Given the description of an element on the screen output the (x, y) to click on. 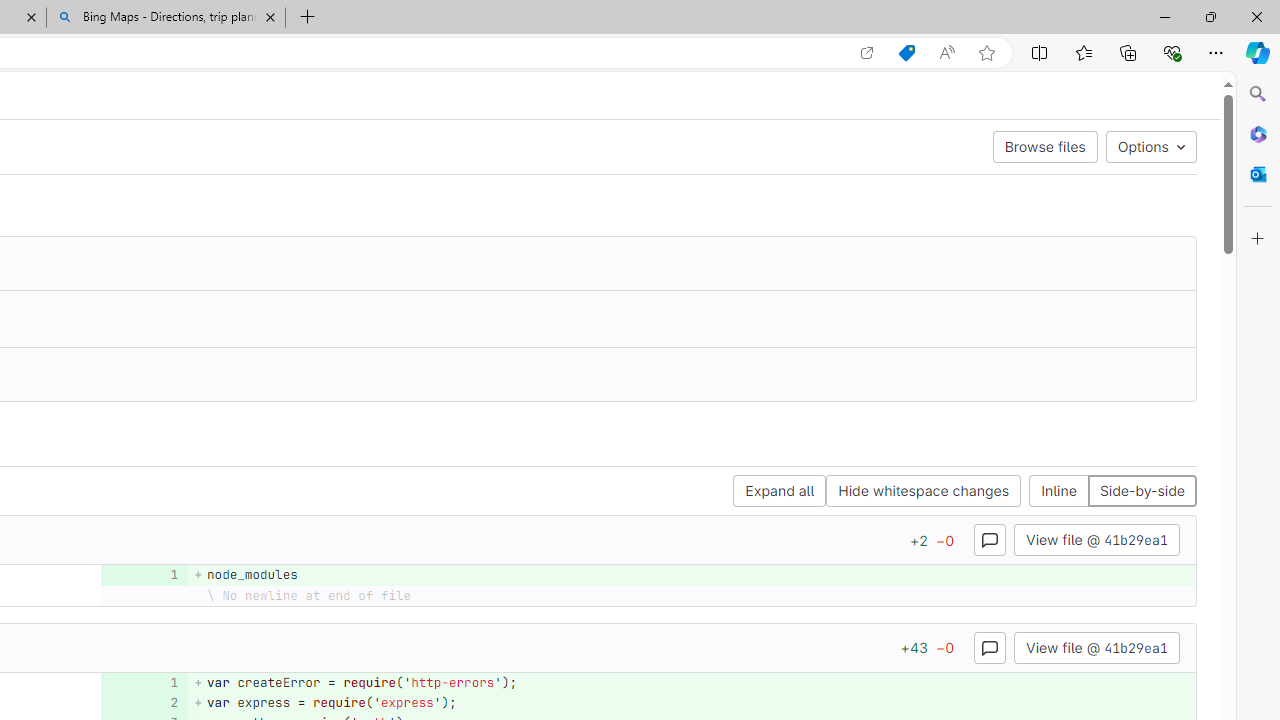
2 (141, 701)
Add a comment to this line (138, 701)
Open in app (867, 53)
1 (141, 681)
Options (1150, 146)
Add a comment to this line 1 (144, 681)
